Given the description of an element on the screen output the (x, y) to click on. 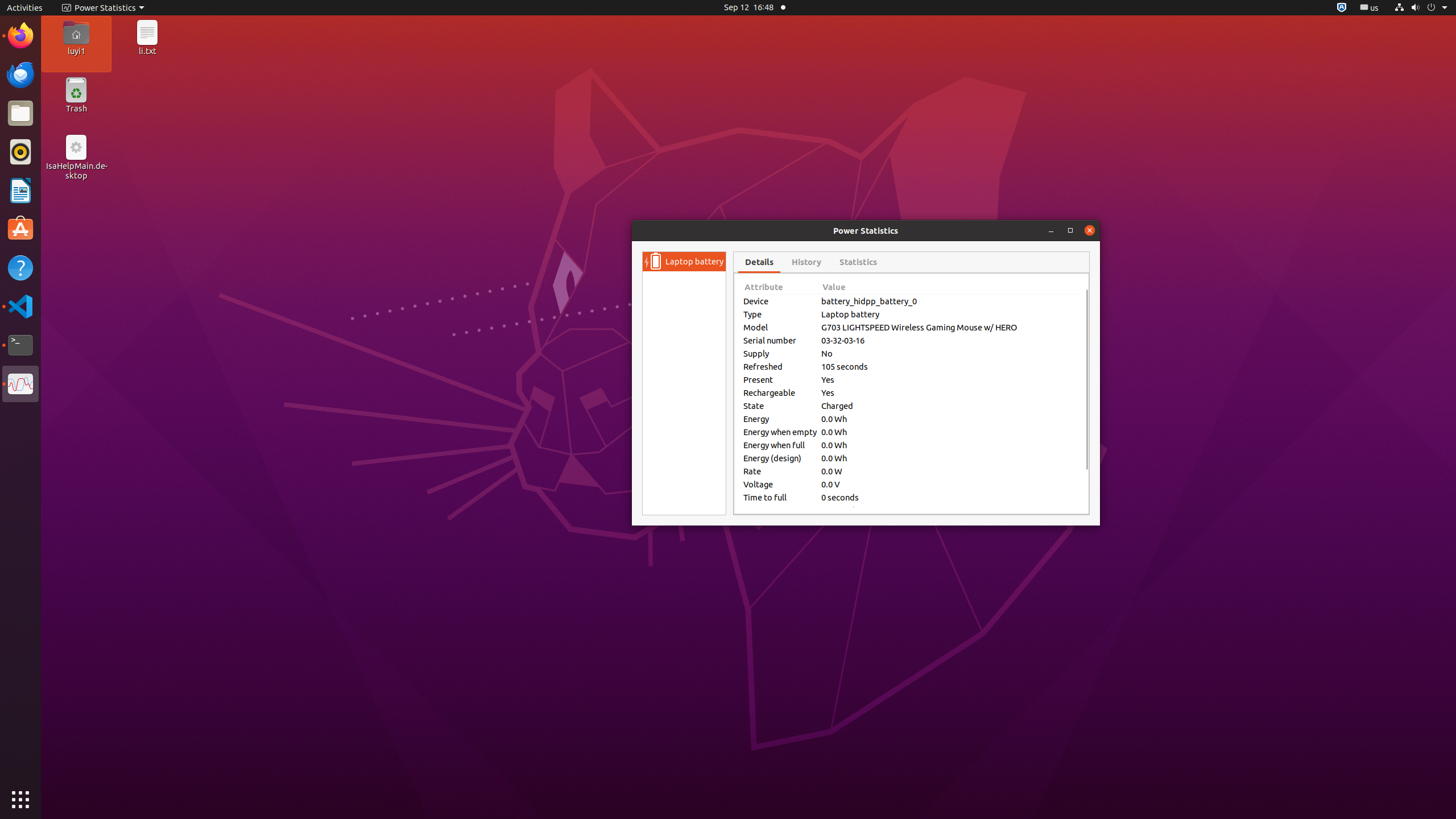
battery_hidpp_battery_0 Element type: table-cell (950, 301)
Value Element type: table-column-header (950, 287)
Attribute Element type: table-column-header (780, 287)
Energy when full Element type: table-cell (779, 445)
